Given the description of an element on the screen output the (x, y) to click on. 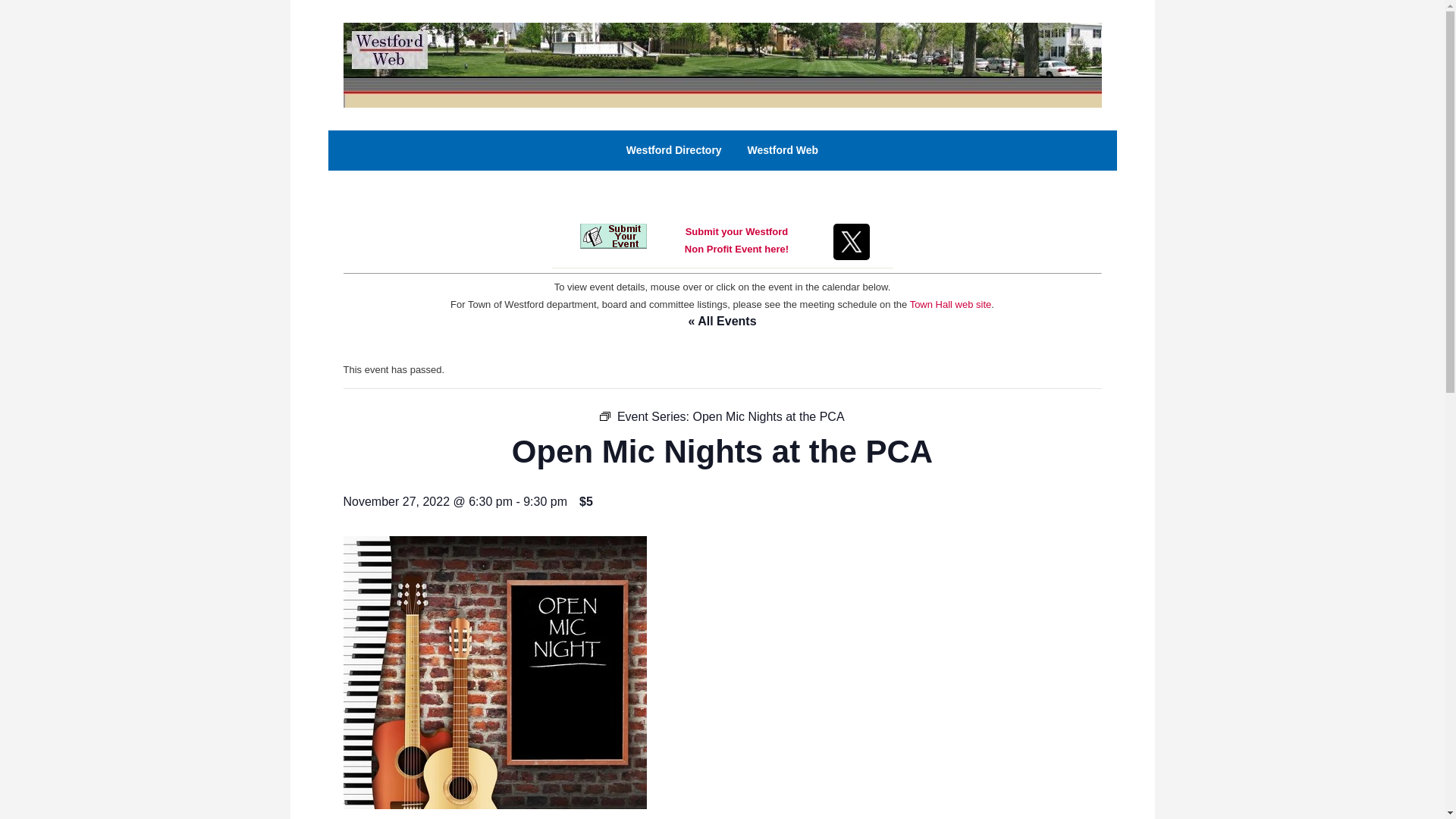
Open Mic Nights at the PCA (768, 416)
Event Series (736, 240)
Listing events for Westford, MA only non profit groups (604, 415)
Town Hall web site (721, 63)
Westford Directory (950, 304)
Westford Web (674, 150)
